Given the description of an element on the screen output the (x, y) to click on. 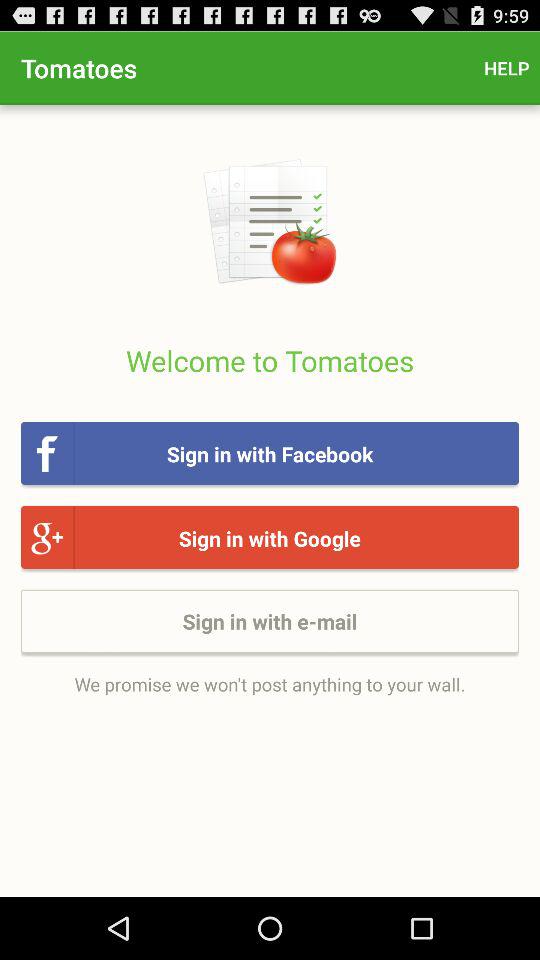
press the help icon (506, 67)
